Given the description of an element on the screen output the (x, y) to click on. 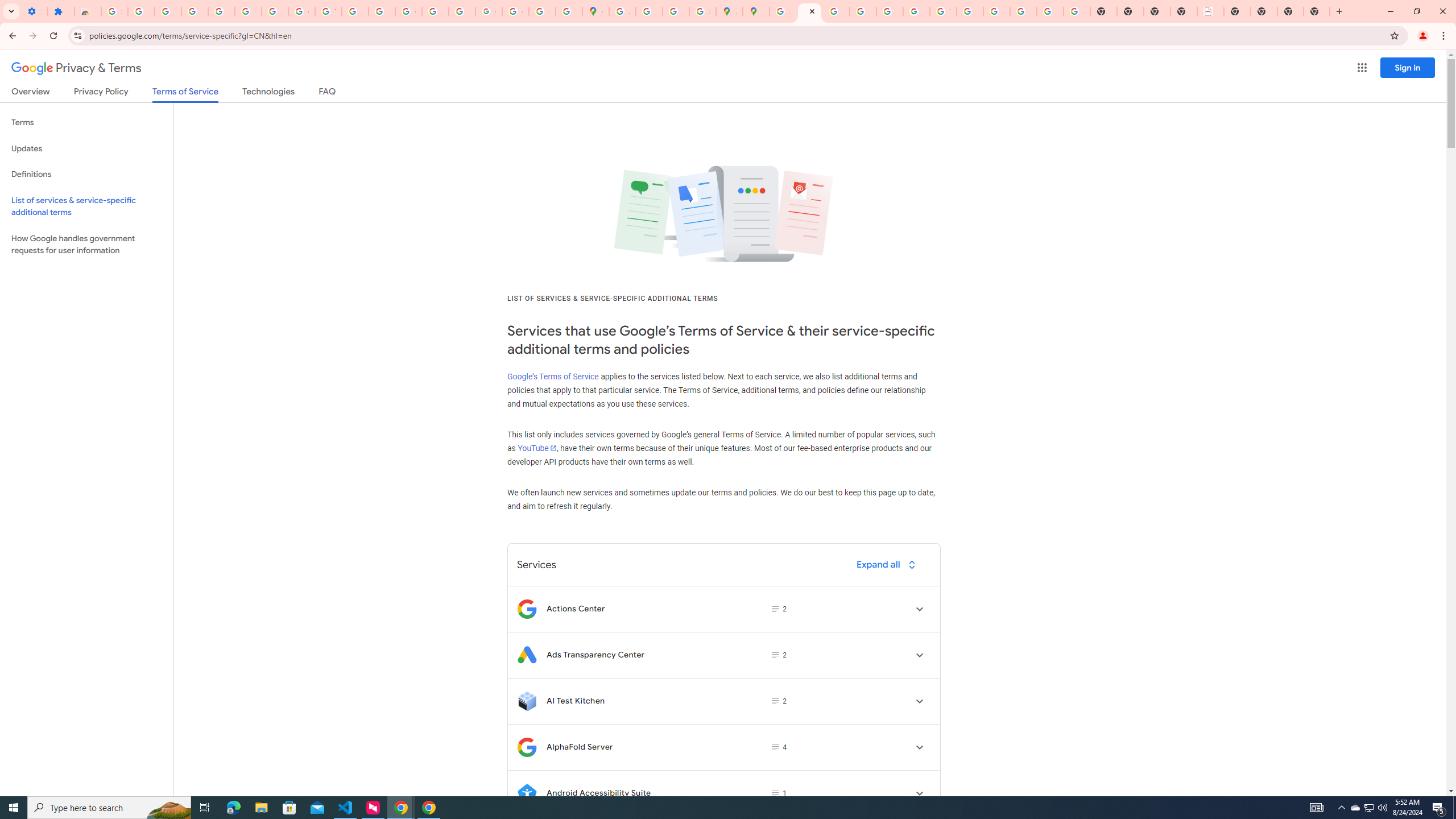
YouTube (943, 11)
